Given the description of an element on the screen output the (x, y) to click on. 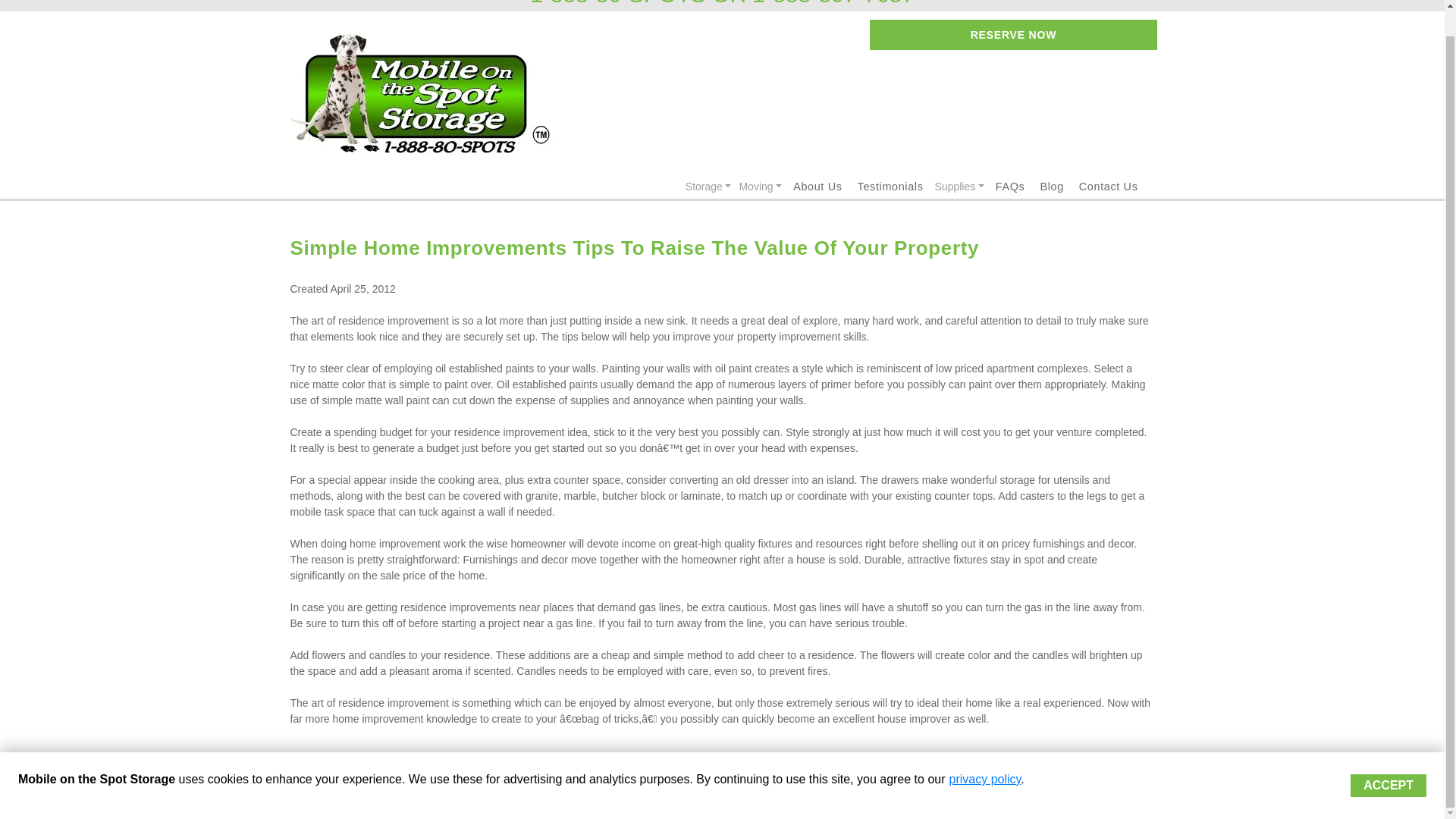
ACCEPT (1388, 758)
Testimonials (890, 186)
Supplies (959, 187)
FAQs (1010, 186)
Storage (708, 187)
Moving (760, 187)
RESERVE NOW (1012, 34)
About Us (817, 186)
privacy policy (985, 752)
Powered by (344, 796)
Admin (1138, 796)
1-888-807-7687 (833, 2)
Privacy (833, 796)
Terms (794, 796)
Contact Us (1108, 186)
